Given the description of an element on the screen output the (x, y) to click on. 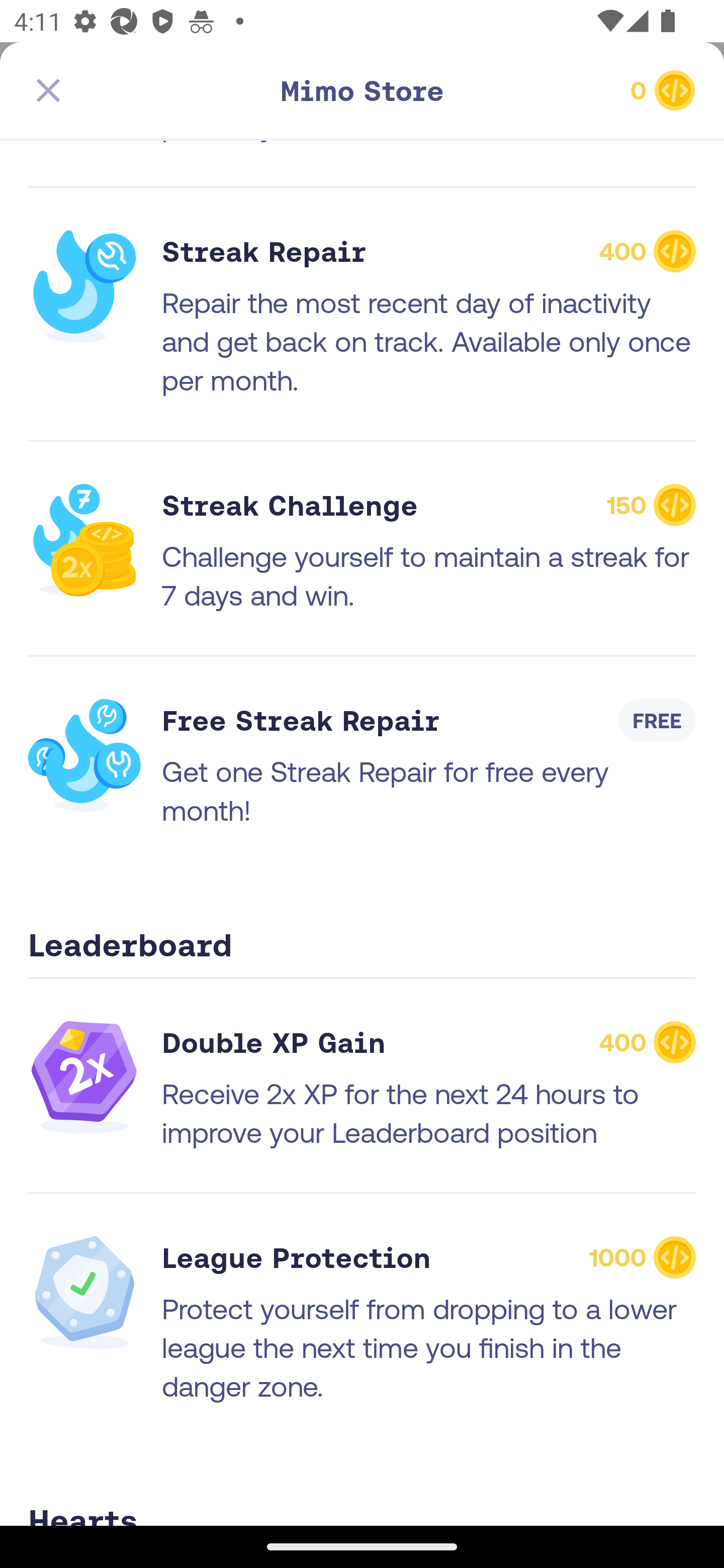
Path Toolbar Image 4 (134, 90)
Path Toolbar Image 0 (361, 90)
Path Toolbar Image 0 (588, 90)
